Given the description of an element on the screen output the (x, y) to click on. 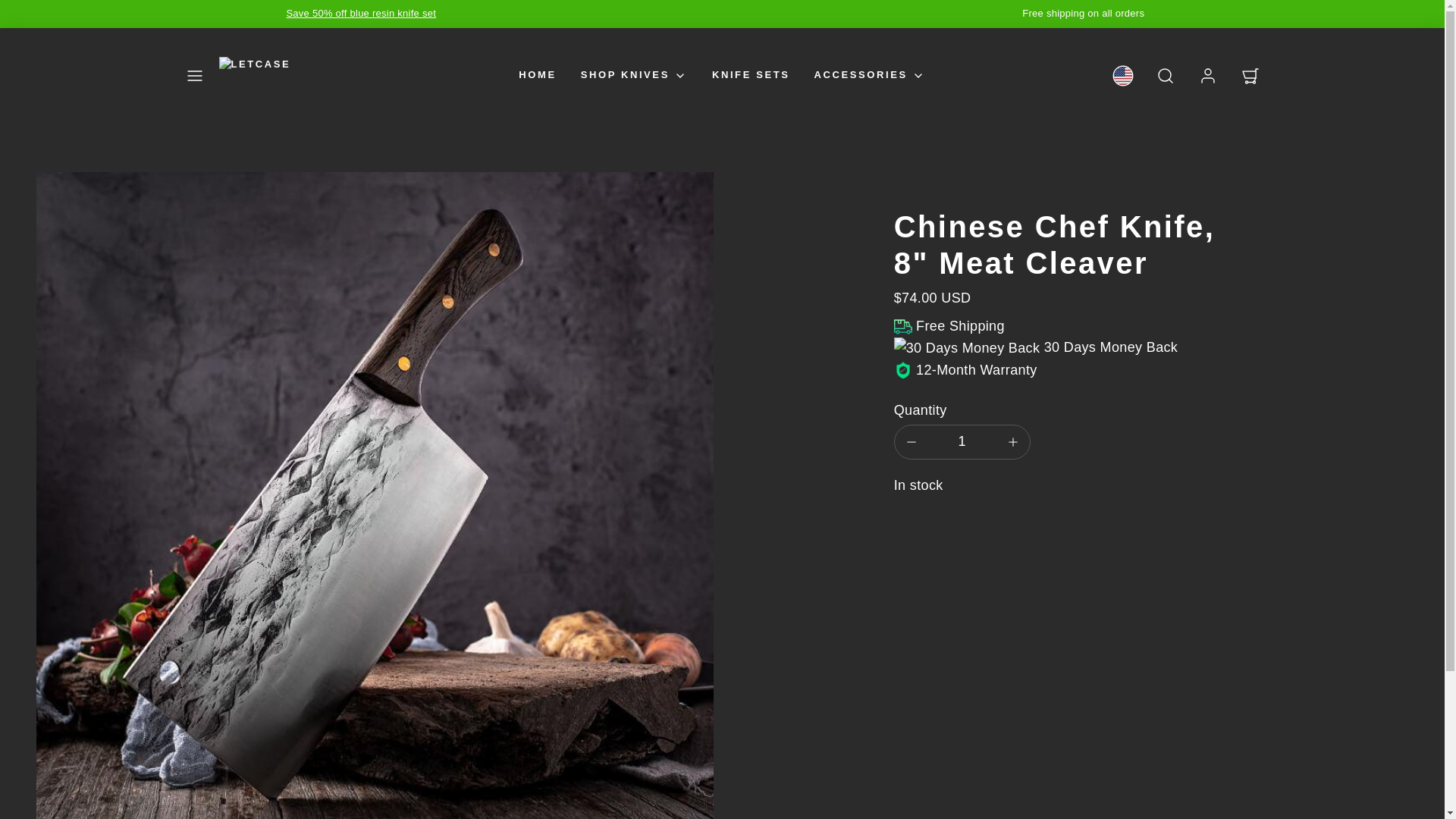
1 (961, 441)
ACCOUNT (1207, 75)
HOME (536, 75)
ACCESSORIES (869, 75)
SEARCH (1165, 75)
KNIFE SETS (751, 75)
SHOP KNIVES (634, 75)
MENU (194, 75)
